Given the description of an element on the screen output the (x, y) to click on. 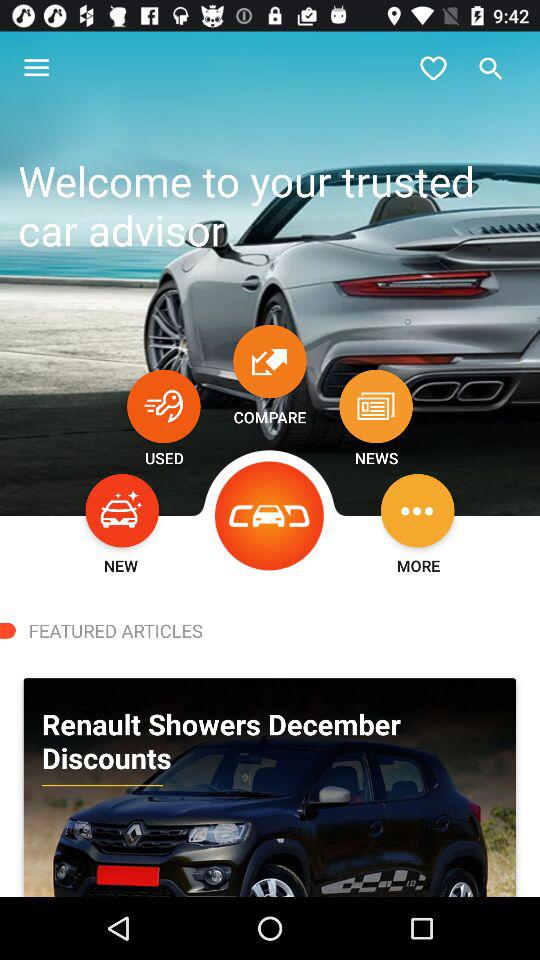
search new cars (122, 510)
